Given the description of an element on the screen output the (x, y) to click on. 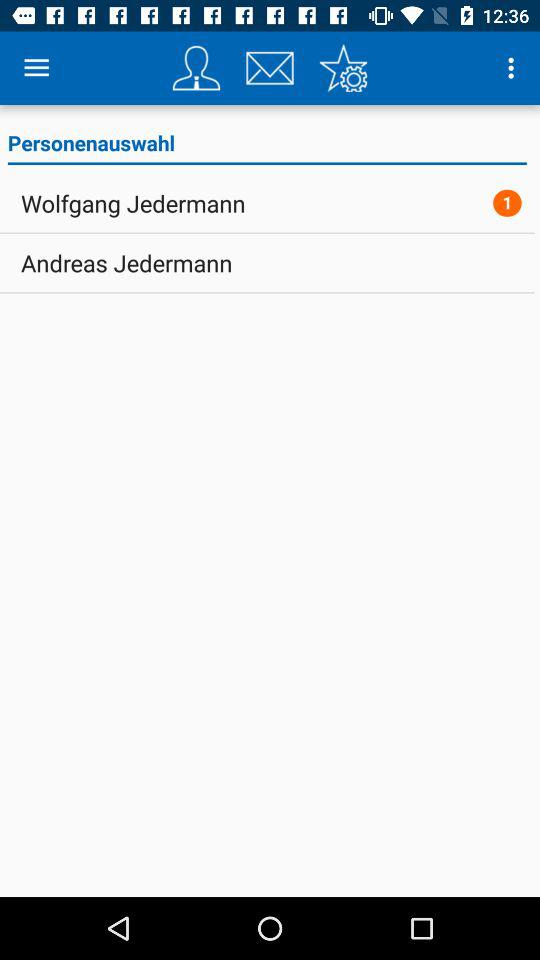
go to messages (269, 67)
